Given the description of an element on the screen output the (x, y) to click on. 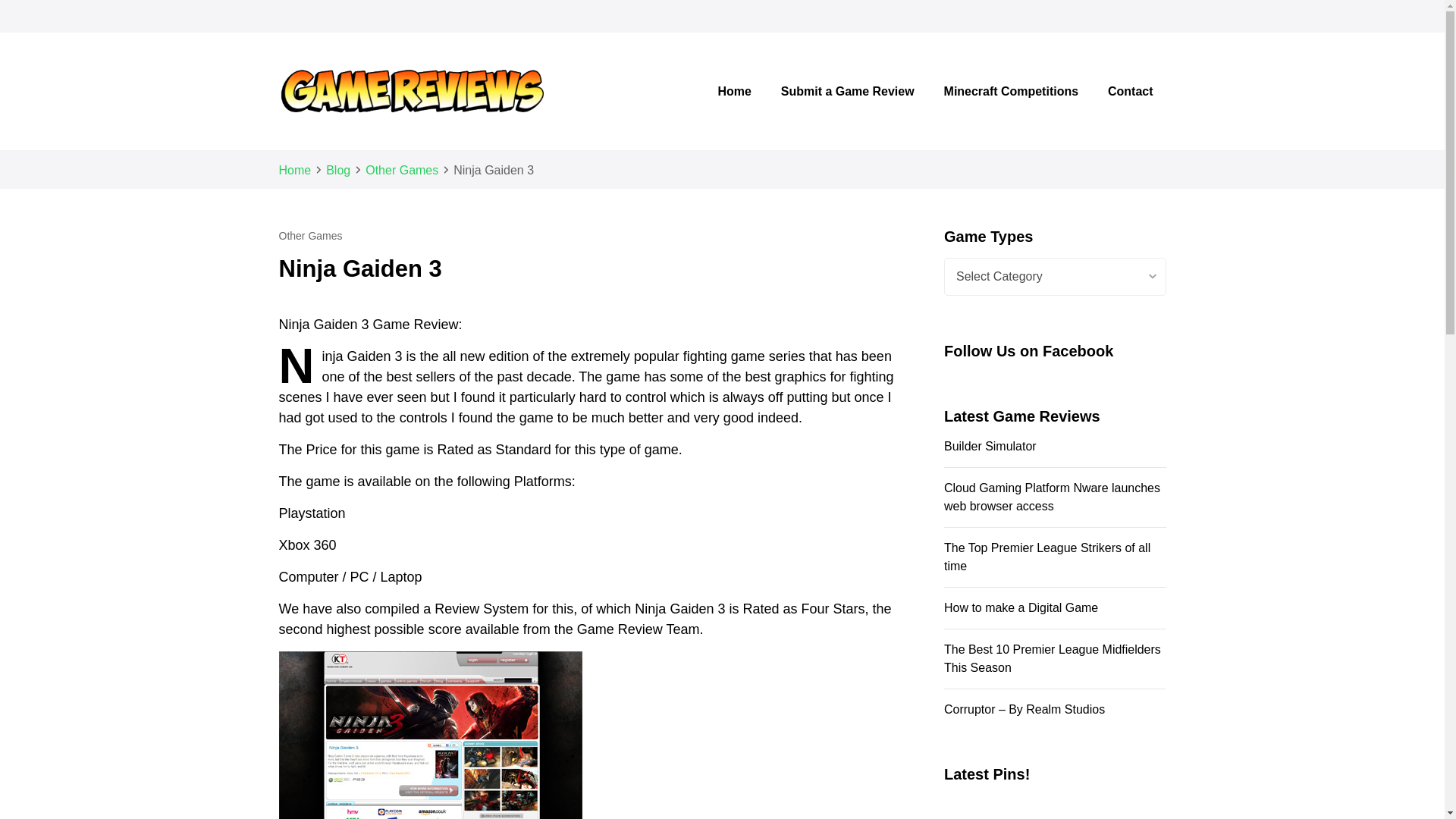
Ninja Gaiden 3 (493, 169)
Other Games (401, 169)
Other Games (310, 235)
Home (733, 91)
Home (733, 91)
Minecraft Competitions (1010, 91)
Contact (1130, 91)
Ninja Gaiden 3 (430, 735)
Submit a Game Review (847, 91)
Blog (338, 169)
Submit a Game Review (847, 91)
Home (295, 169)
